Given the description of an element on the screen output the (x, y) to click on. 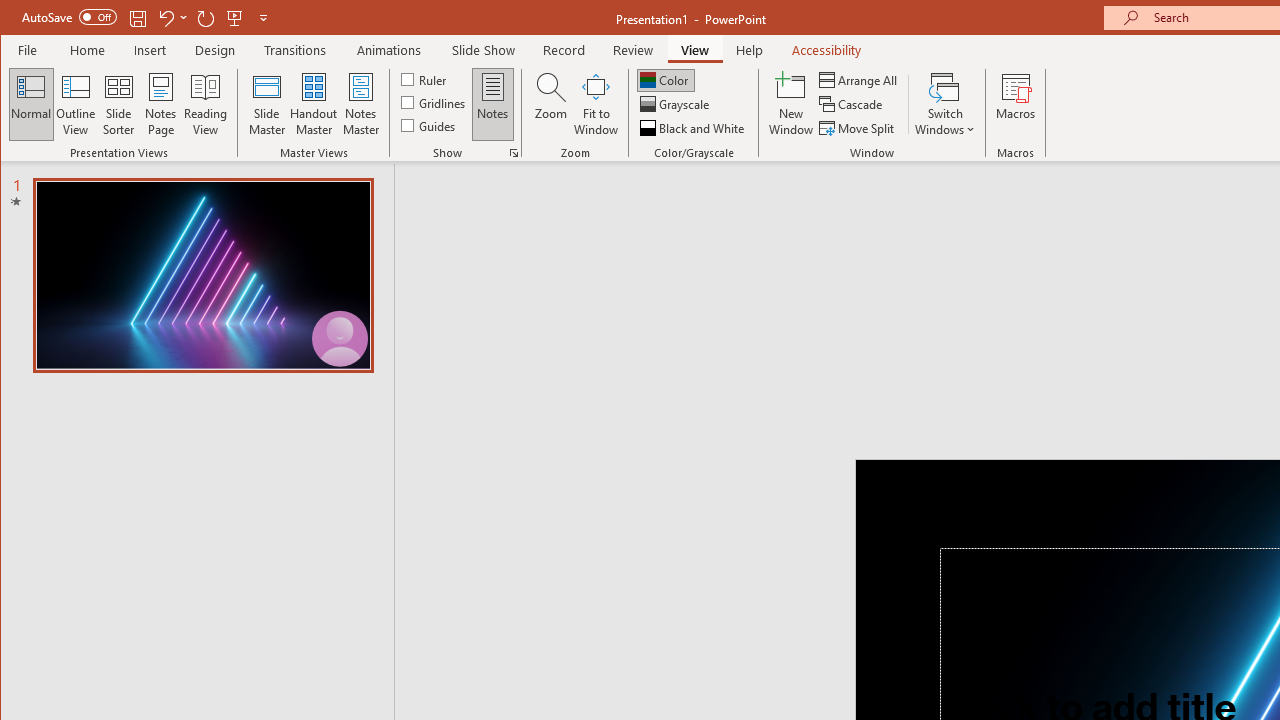
New Window (791, 104)
Color (666, 80)
